Given the description of an element on the screen output the (x, y) to click on. 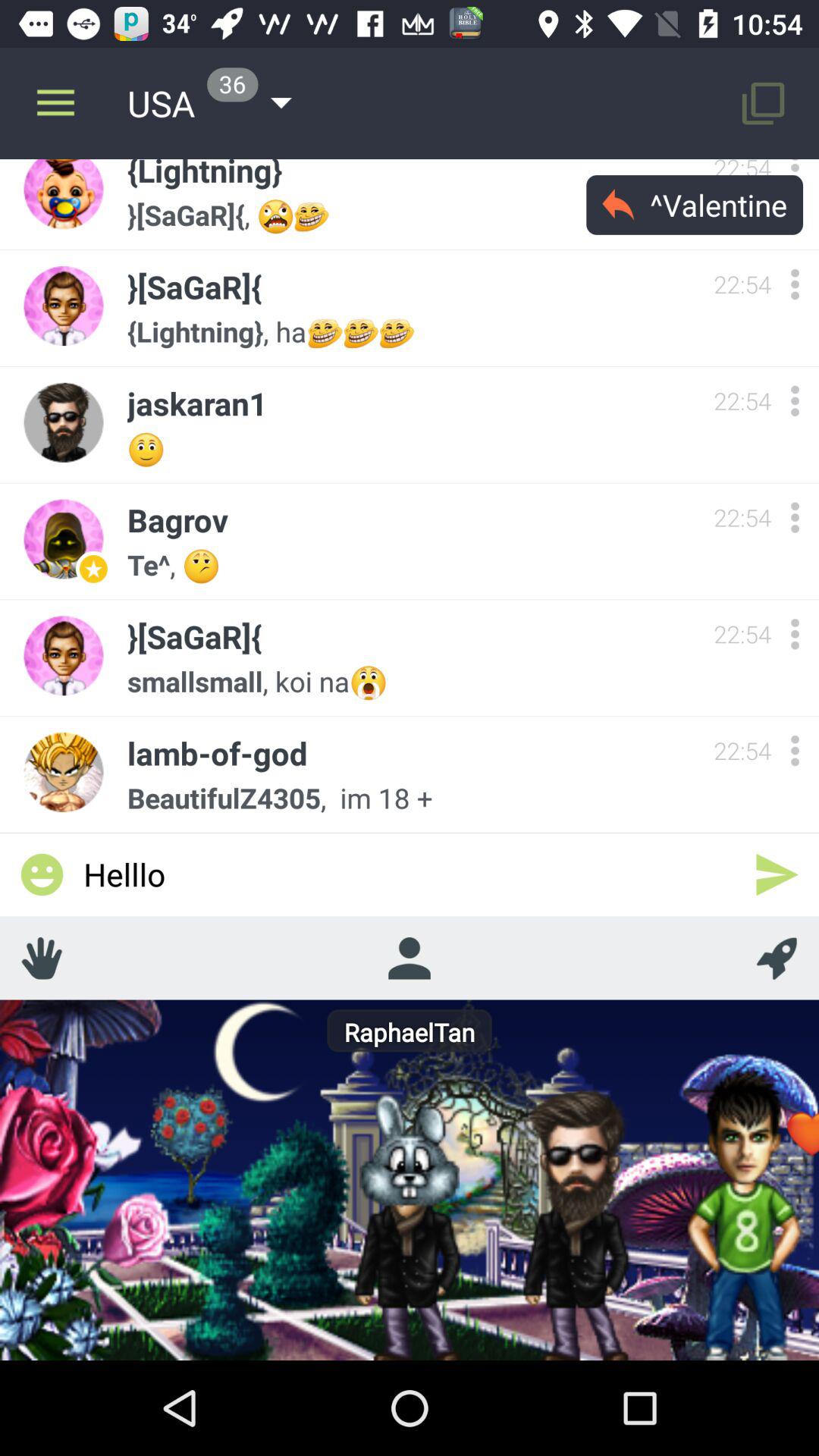
raphaeltan (409, 957)
